Given the description of an element on the screen output the (x, y) to click on. 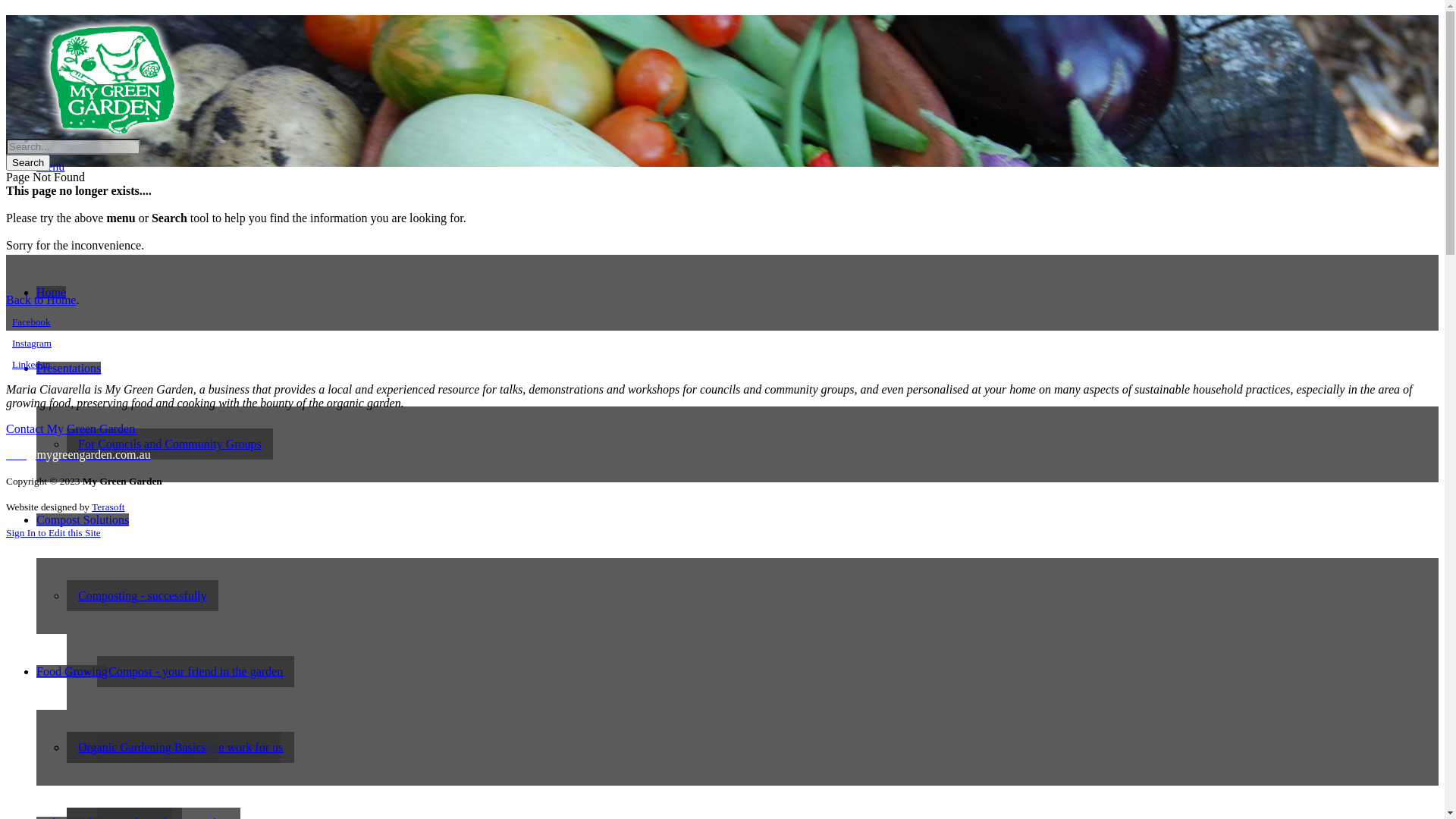
Terasoft Element type: text (107, 506)
Menu Element type: text (50, 166)
Sign In to Edit this Site Element type: text (53, 532)
Search Element type: text (28, 162)
Linked in Element type: text (31, 364)
For Councils and Community Groups Element type: text (169, 443)
Facebook Element type: text (31, 321)
Presentations Element type: text (68, 367)
Instagram Element type: text (31, 342)
Composting - successfully Element type: text (142, 595)
Compost - your friend in the garden Element type: text (195, 671)
Making Compost - the Easy Way Element type: text (188, 746)
Food Growing Element type: text (71, 671)
info@mygreengarden.com.au Element type: text (78, 454)
Compost Solutions Element type: text (82, 519)
Home Element type: text (50, 291)
Organic Gardening Basics Element type: text (141, 746)
Back to Home Element type: text (40, 299)
Contact My Green Garden  Element type: text (72, 428)
Worm farming - letting nature work for us Element type: text (180, 746)
